Given the description of an element on the screen output the (x, y) to click on. 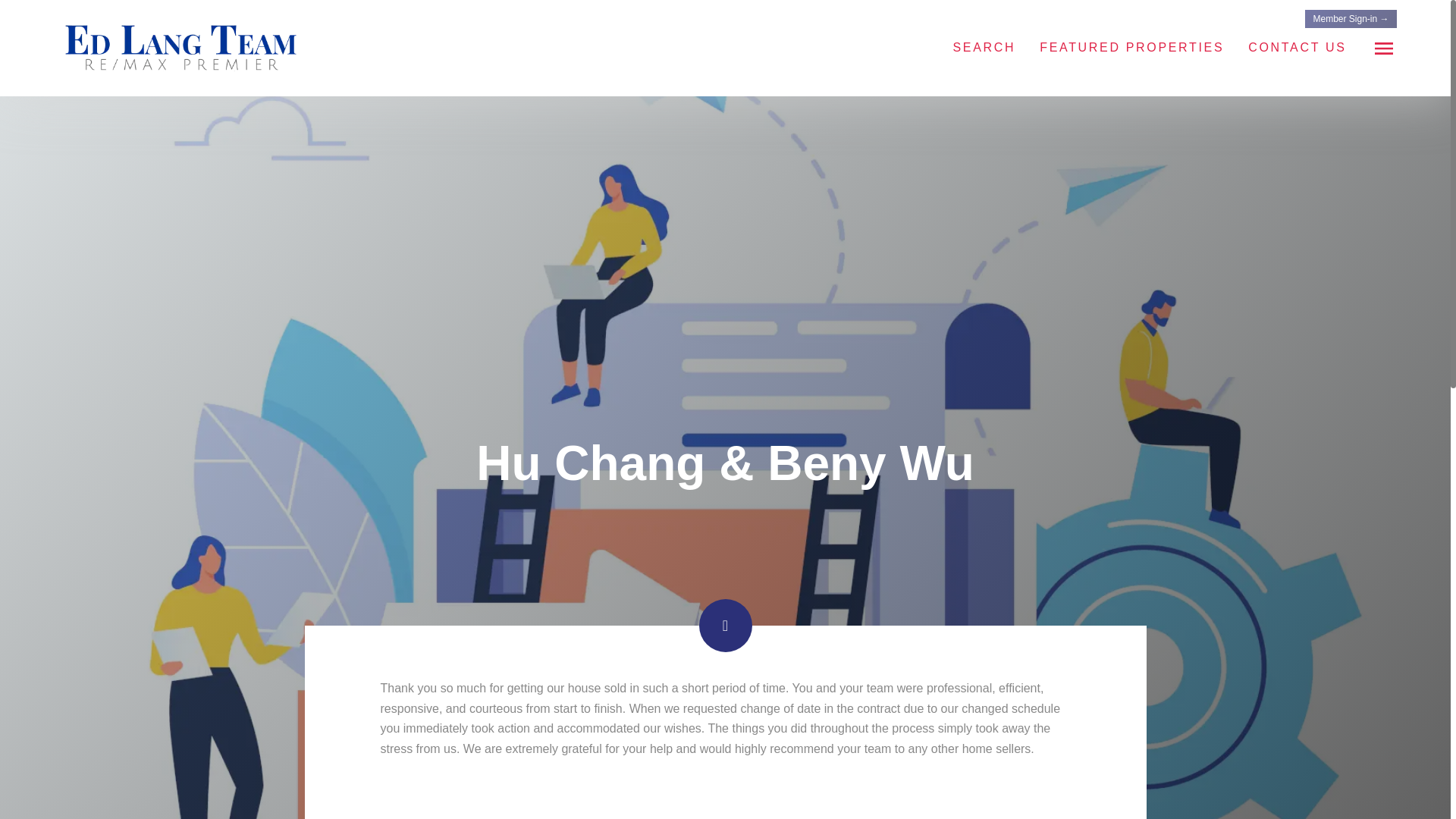
FEATURED PROPERTIES (1131, 47)
SEARCH (983, 47)
CONTACT US (1296, 47)
